Given the description of an element on the screen output the (x, y) to click on. 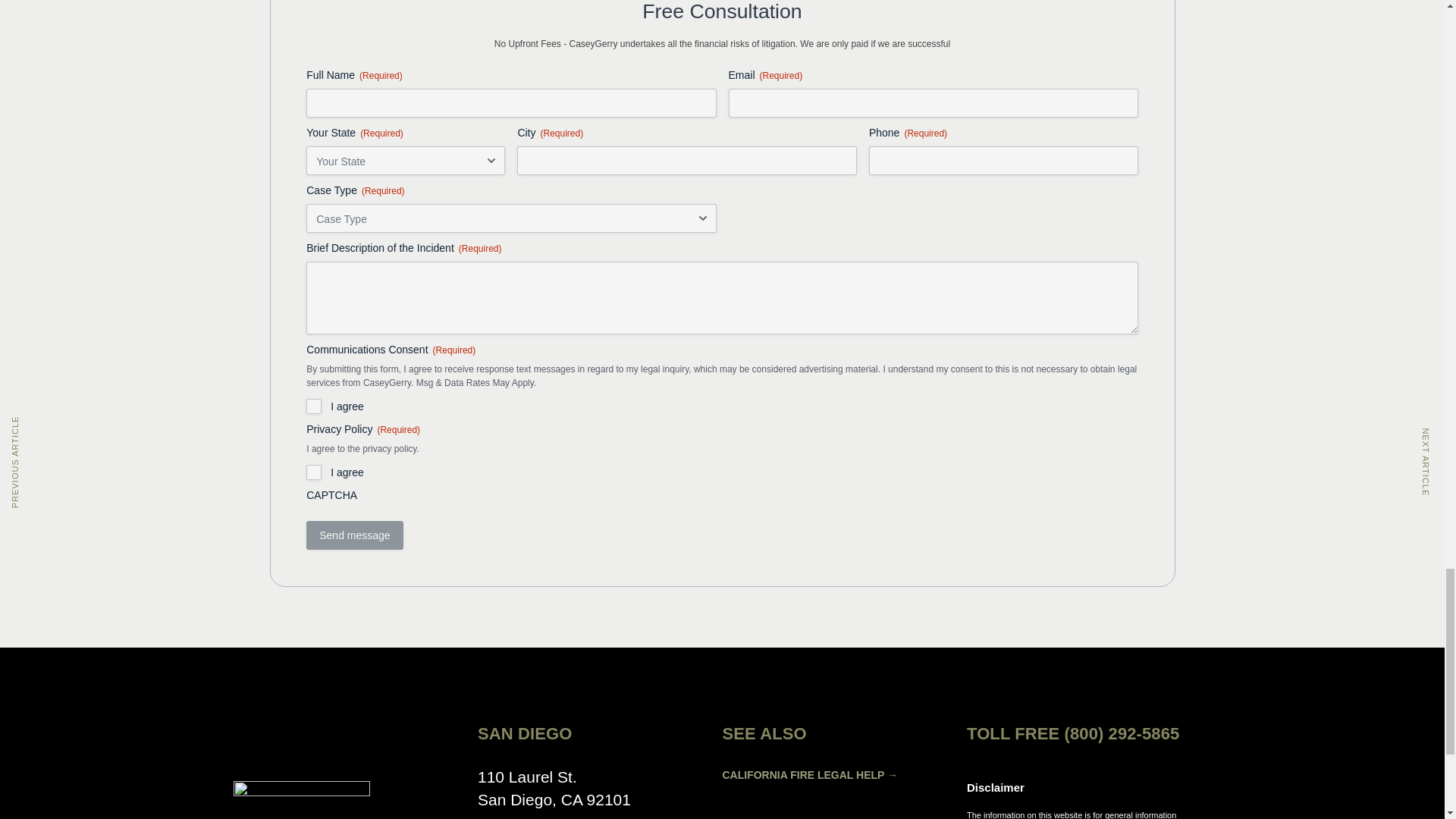
I agree (313, 472)
I agree (313, 406)
Send message (354, 534)
